Given the description of an element on the screen output the (x, y) to click on. 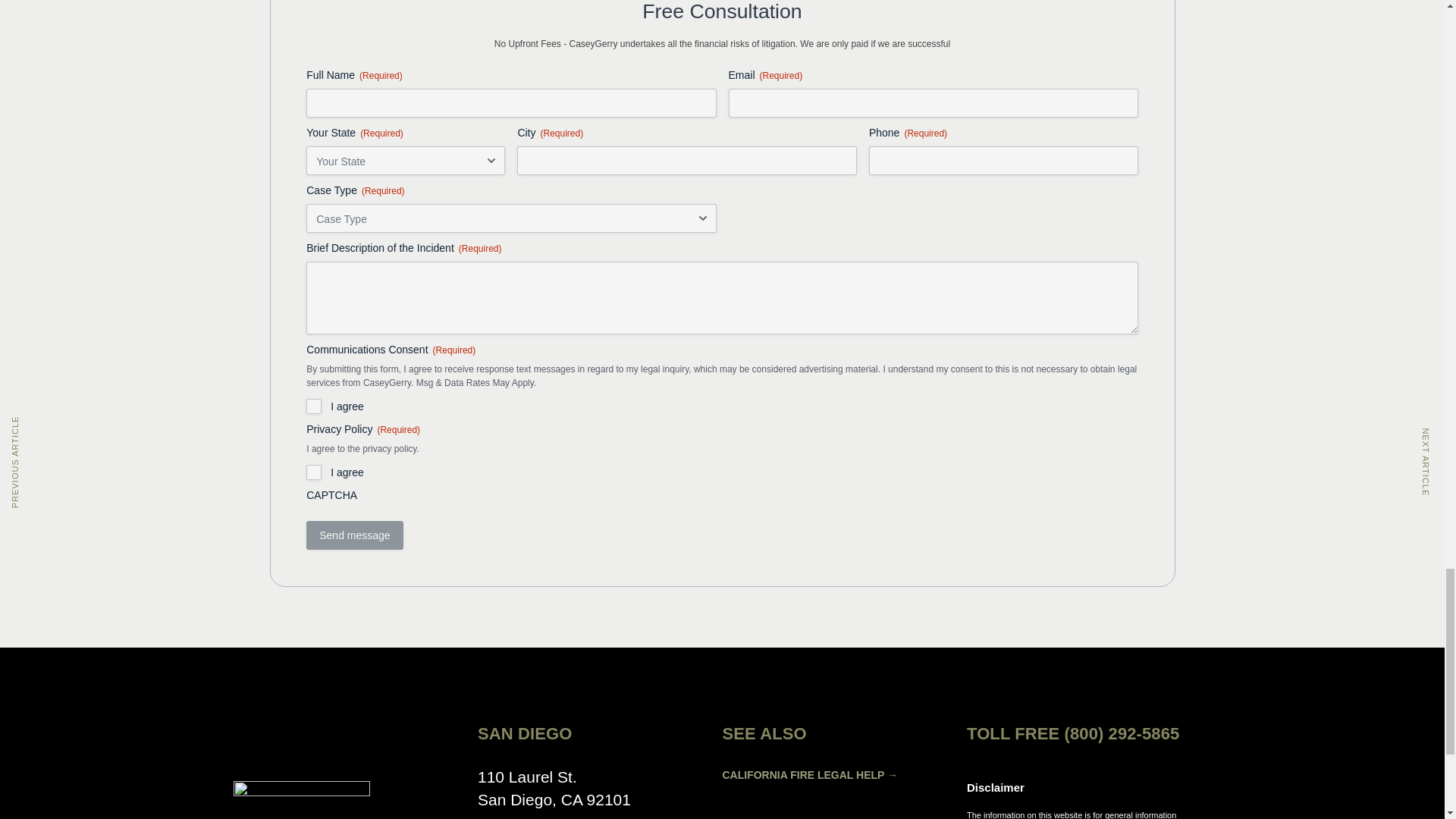
I agree (313, 472)
I agree (313, 406)
Send message (354, 534)
